Given the description of an element on the screen output the (x, y) to click on. 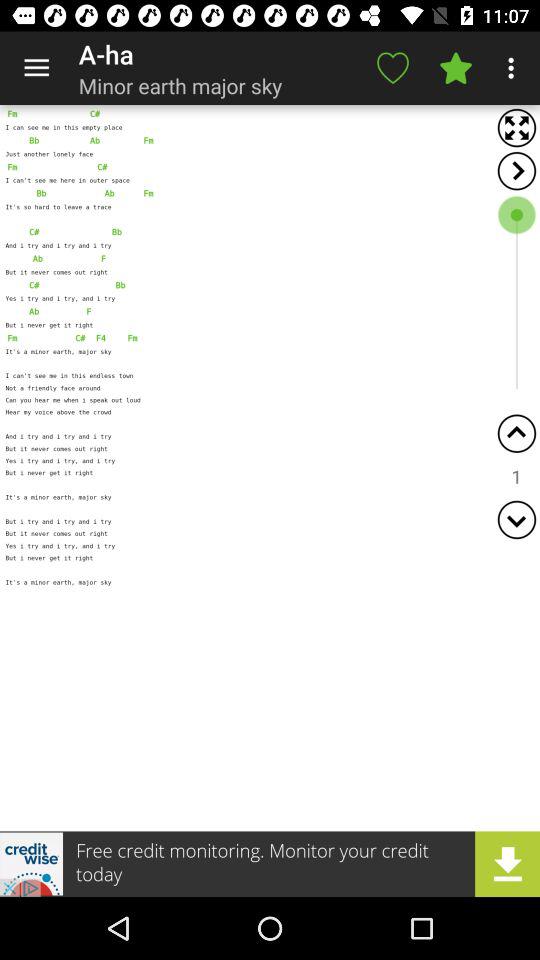
open and advertisement (270, 864)
